Given the description of an element on the screen output the (x, y) to click on. 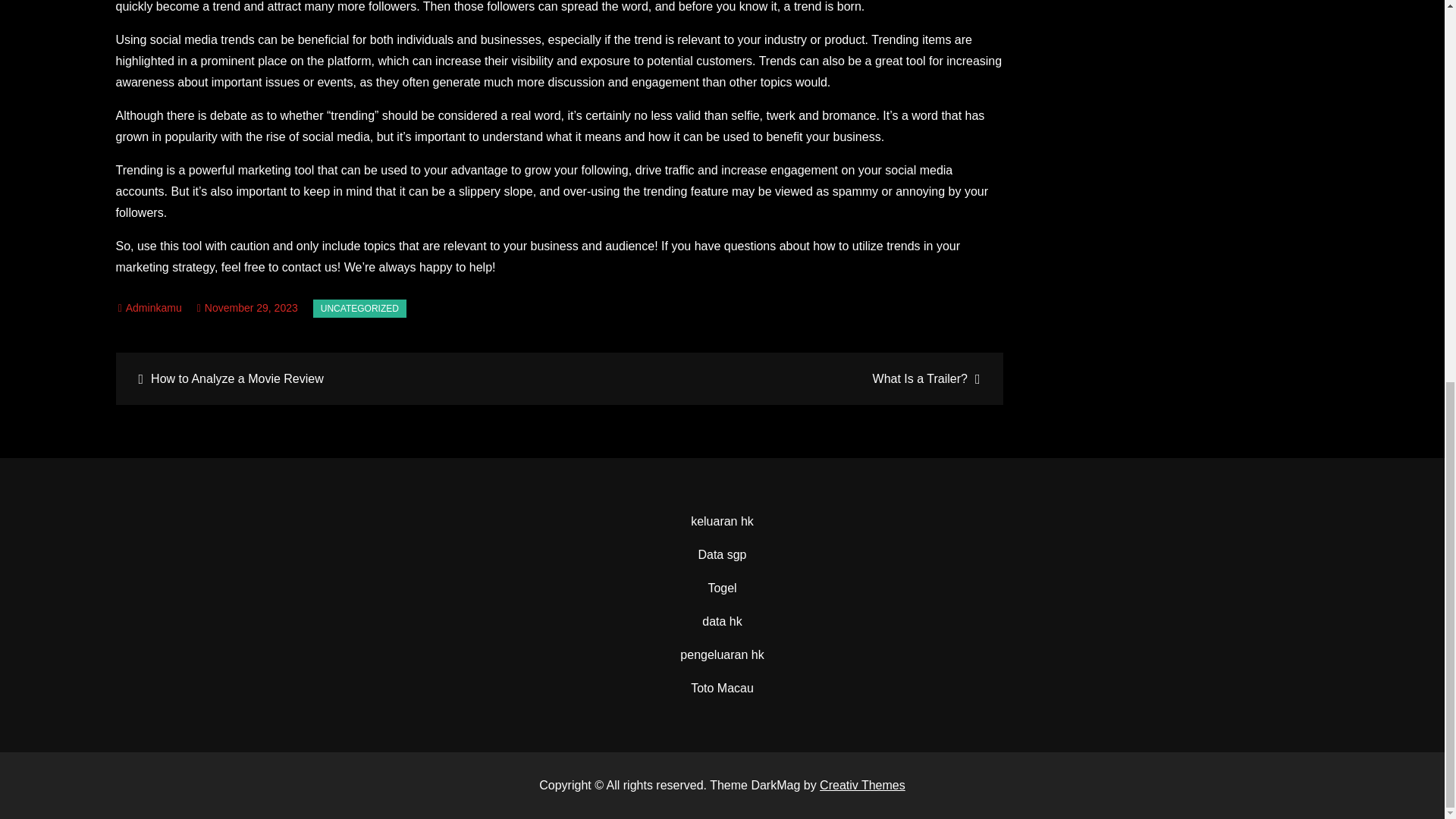
UNCATEGORIZED (359, 308)
Data sgp (721, 554)
pengeluaran hk (720, 654)
keluaran hk (722, 521)
How to Analyze a Movie Review (339, 378)
November 29, 2023 (247, 307)
Adminkamu (149, 307)
What Is a Trailer? (778, 378)
Togel (721, 587)
Toto Macau (722, 687)
